Given the description of an element on the screen output the (x, y) to click on. 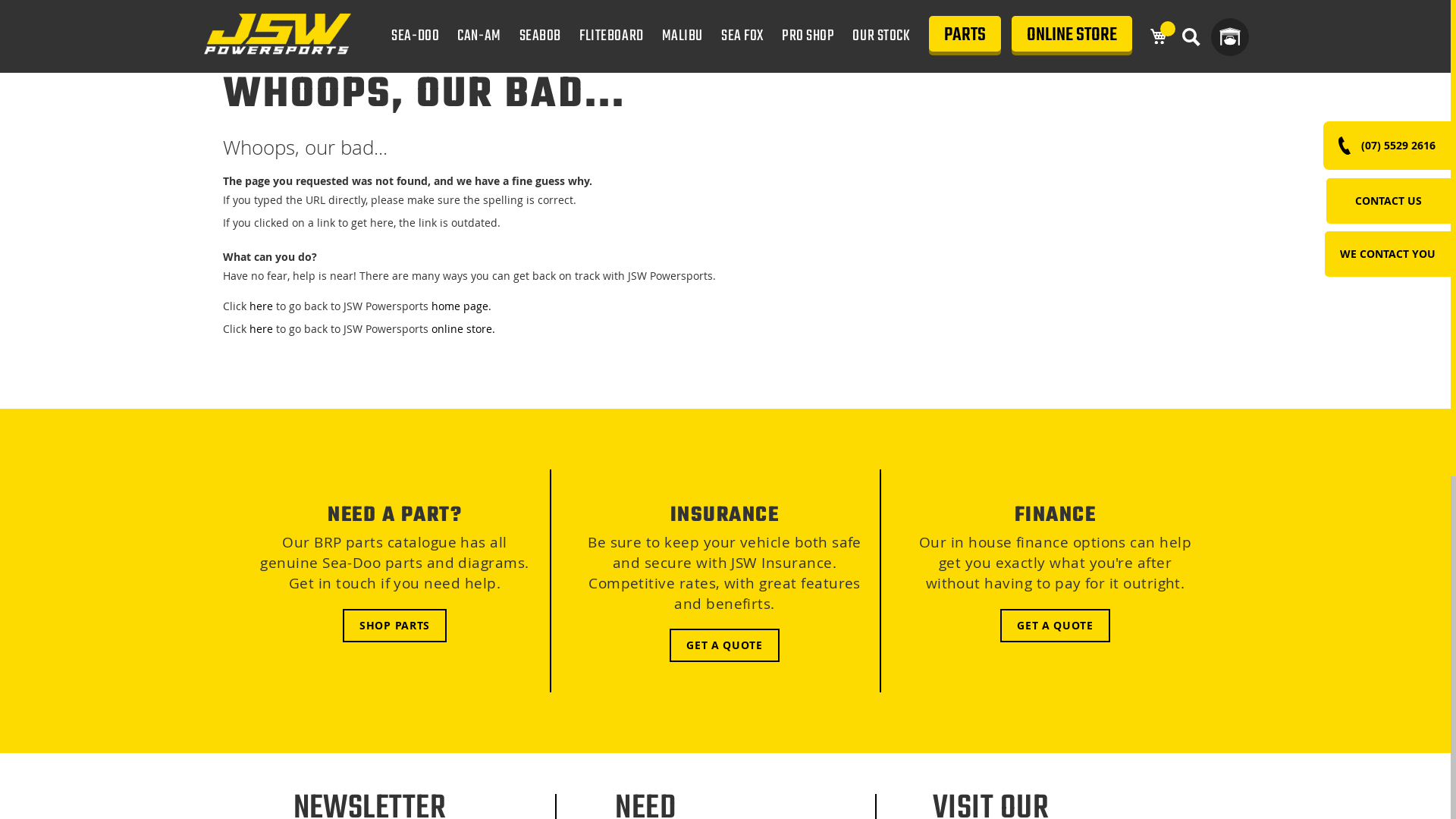
ONLINE STORE Element type: text (1071, 37)
PARTS Element type: text (964, 37)
GET A QUOTE Element type: text (1055, 625)
SEA FOX Element type: text (742, 36)
home page. Element type: text (460, 305)
GET A QUOTE Element type: text (724, 645)
OUR STOCK Element type: text (880, 36)
WE CONTACT YOU Element type: text (1387, 253)
here Element type: text (260, 328)
(07) 5529 2616 Element type: text (1386, 145)
here Element type: text (260, 305)
SEA-DOO Element type: text (414, 36)
PRO SHOP Element type: text (808, 36)
CONTACT US Element type: text (1388, 200)
online store. Element type: text (462, 328)
MALIBU Element type: text (682, 36)
FLITEBOARD Element type: text (611, 36)
SEABOB Element type: text (539, 36)
My Cart Element type: text (1158, 35)
CAN-AM Element type: text (478, 36)
SHOP PARTS Element type: text (394, 625)
